Given the description of an element on the screen output the (x, y) to click on. 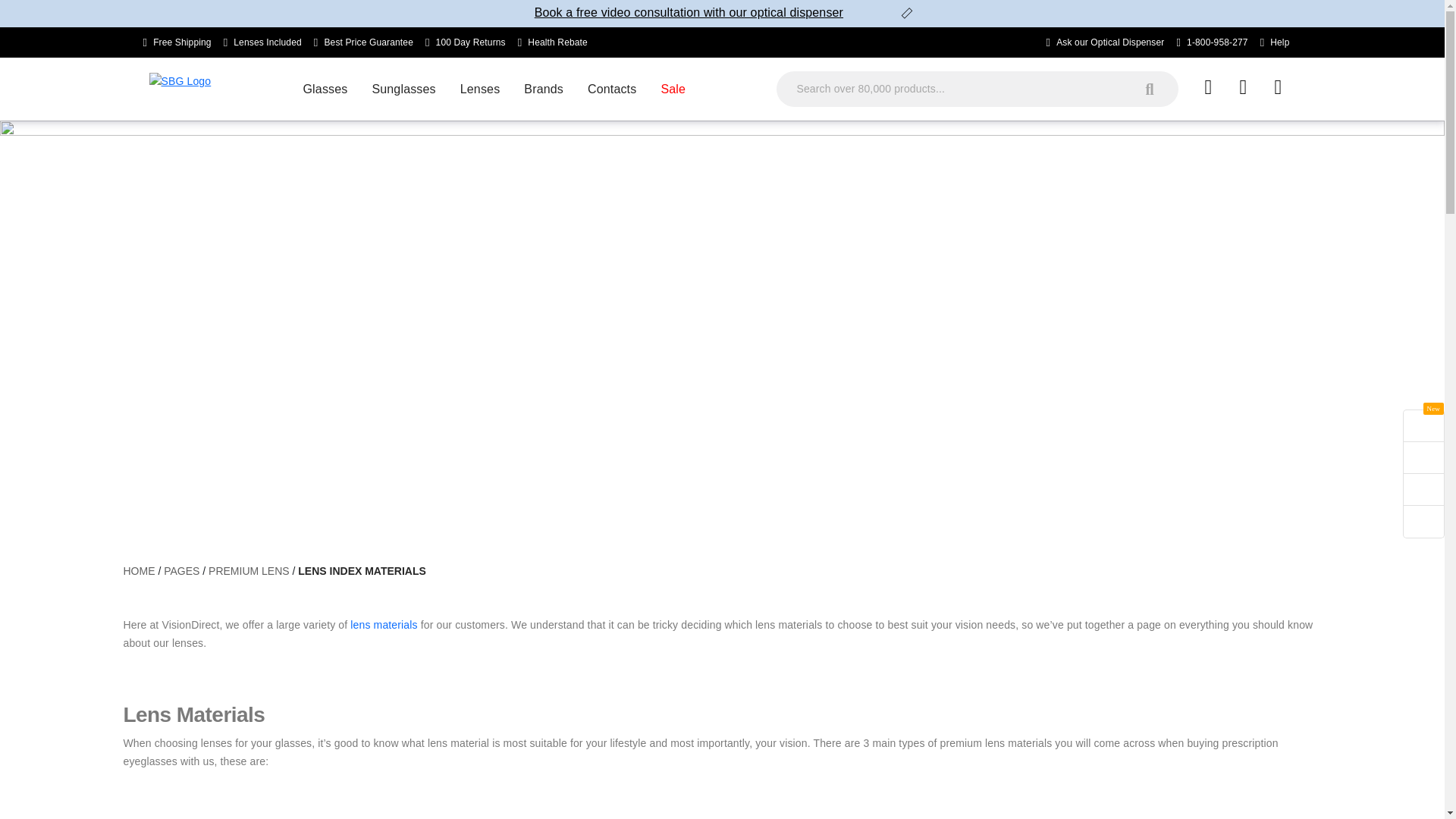
Go to Pages. (181, 571)
Book a free video consultation with our optical dispenser (688, 13)
Brands (543, 89)
Lenses (480, 89)
Sunglasses (402, 89)
Go to Home (139, 571)
Sale (672, 89)
Go to Premium Lens. (248, 571)
Glasses (325, 89)
Contacts (611, 89)
